Given the description of an element on the screen output the (x, y) to click on. 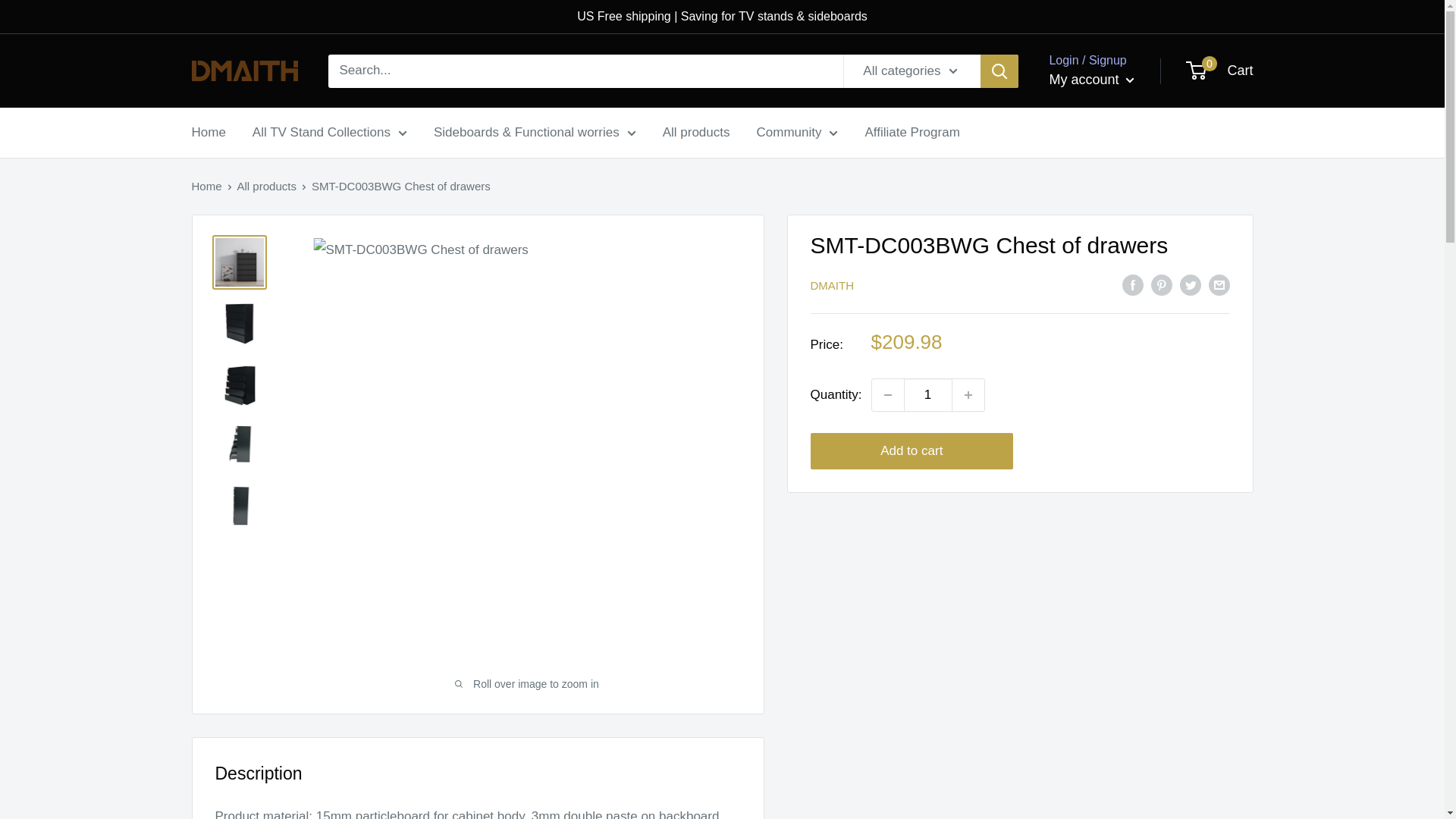
1 (928, 395)
Increase quantity by 1 (968, 395)
Decrease quantity by 1 (888, 395)
